Given the description of an element on the screen output the (x, y) to click on. 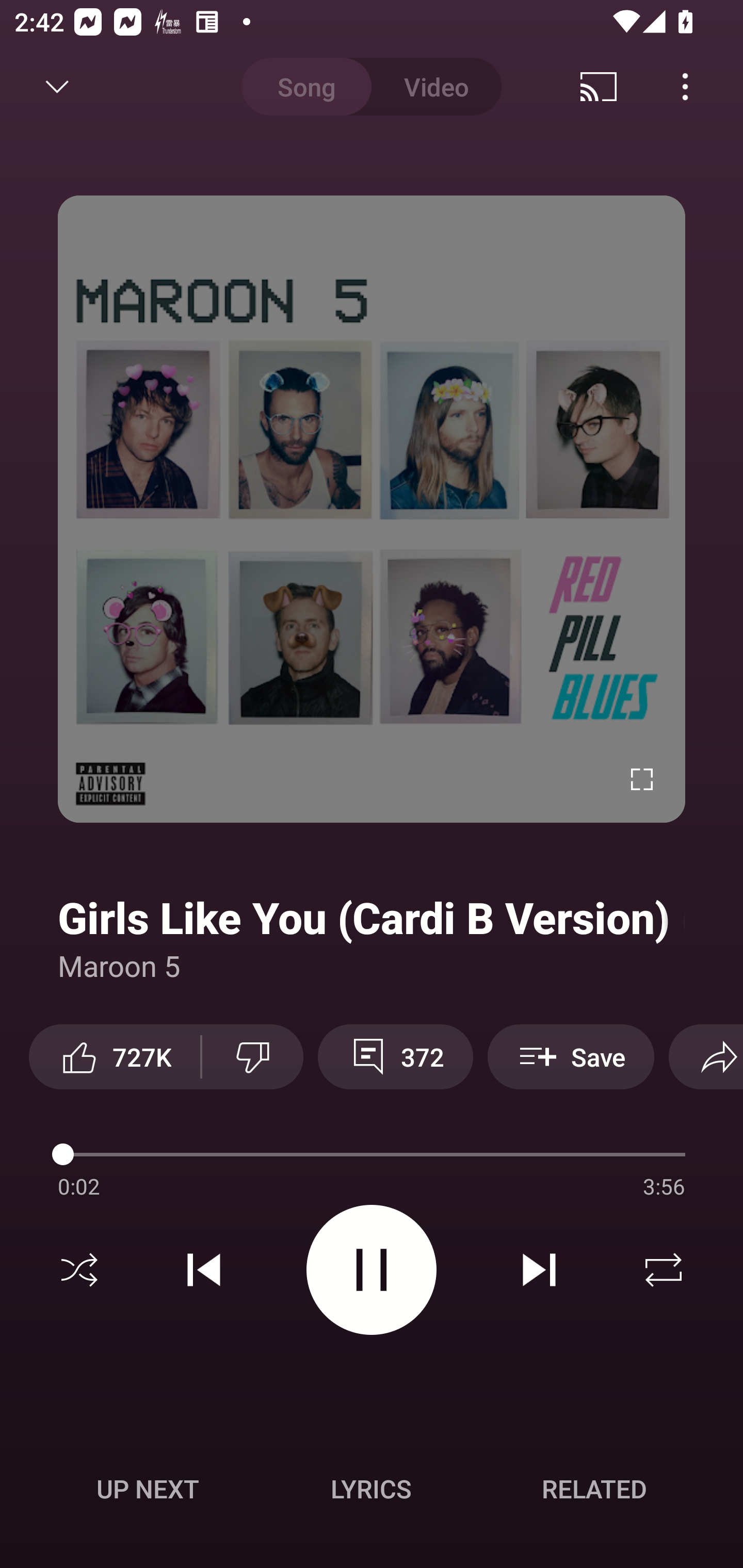
Minimize (57, 86)
Share (605, 86)
Search (692, 86)
Dislike (252, 1056)
372 View 372 comments (395, 1056)
Save Save to playlist (570, 1056)
Share (705, 1056)
Action menu (371, 1157)
Pause video (371, 1269)
Shuffle off (79, 1269)
Previous track (203, 1269)
Next track (538, 1269)
Repeat off (663, 1269)
Up next UP NEXT Lyrics LYRICS Related RELATED (371, 1491)
Lyrics LYRICS (370, 1488)
Related RELATED (594, 1488)
